Given the description of an element on the screen output the (x, y) to click on. 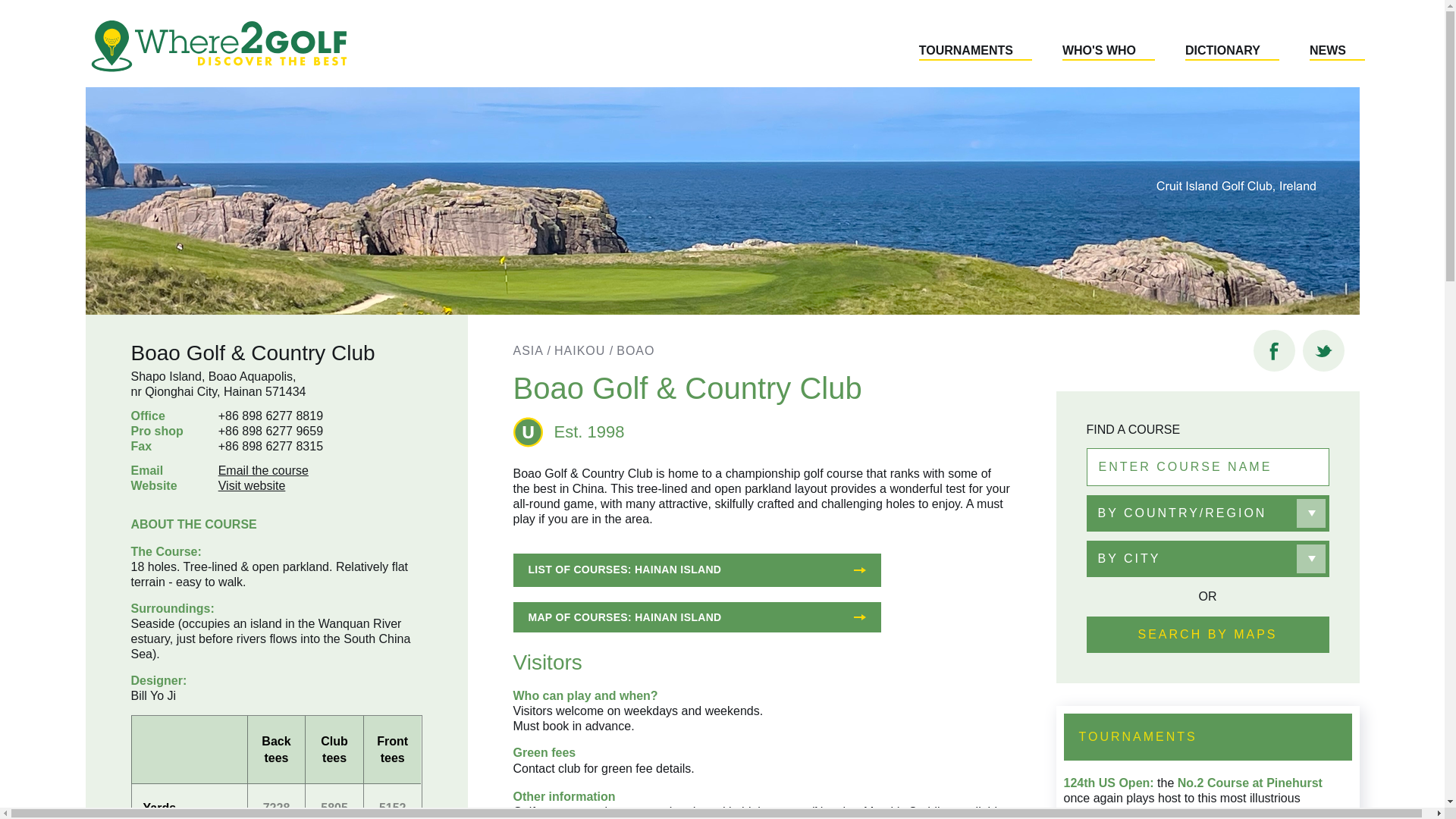
BY CITY (1206, 558)
Visit website (251, 485)
Email the course (263, 470)
NEWS (1336, 52)
MAP OF COURSES: HAINAN ISLAND (696, 616)
DICTIONARY (1232, 52)
TOURNAMENTS (975, 52)
LIST OF COURSES: HAINAN ISLAND (696, 570)
WHO'S WHO (1108, 52)
